Given the description of an element on the screen output the (x, y) to click on. 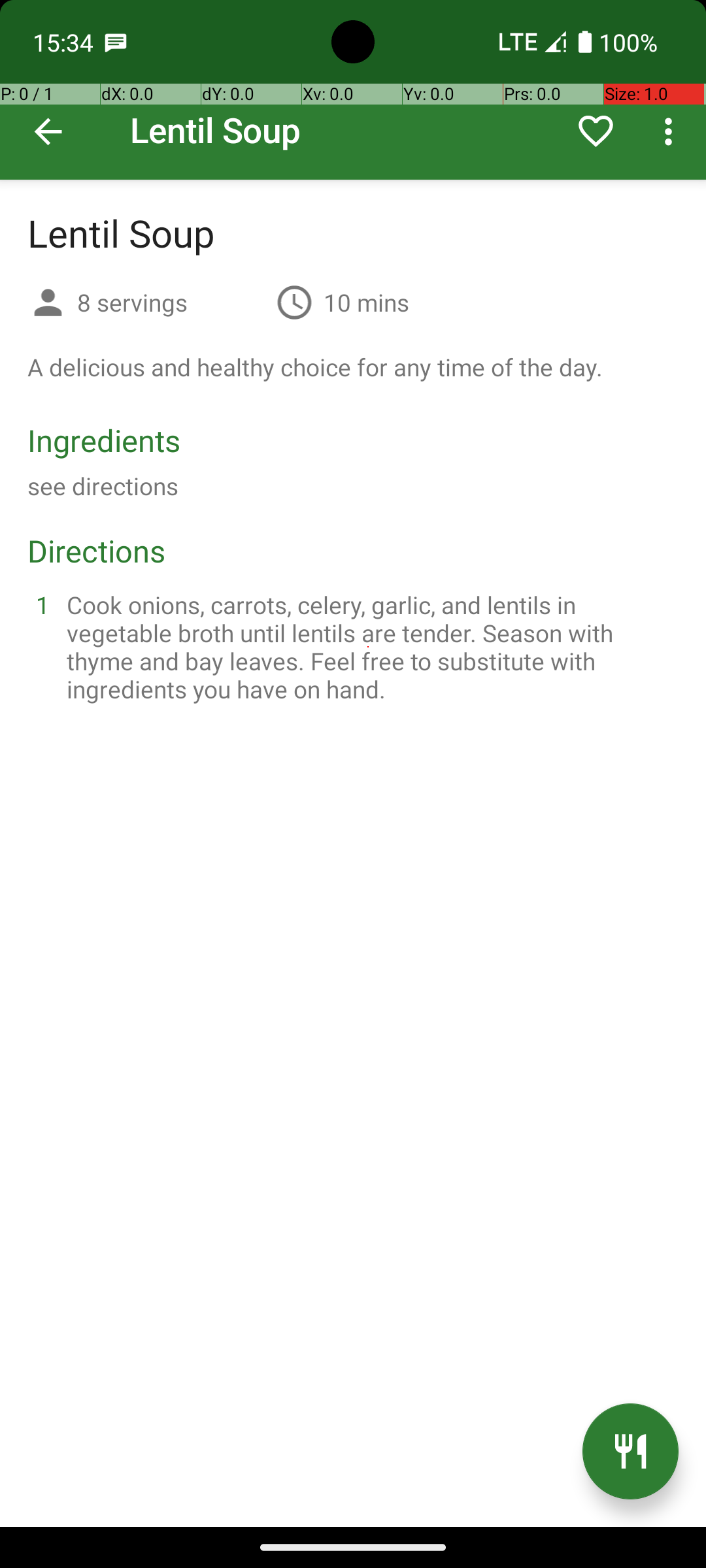
Cook onions, carrots, celery, garlic, and lentils in vegetable broth until lentils are tender. Season with thyme and bay leaves. Feel free to substitute with ingredients you have on hand. Element type: android.widget.TextView (368, 646)
